Given the description of an element on the screen output the (x, y) to click on. 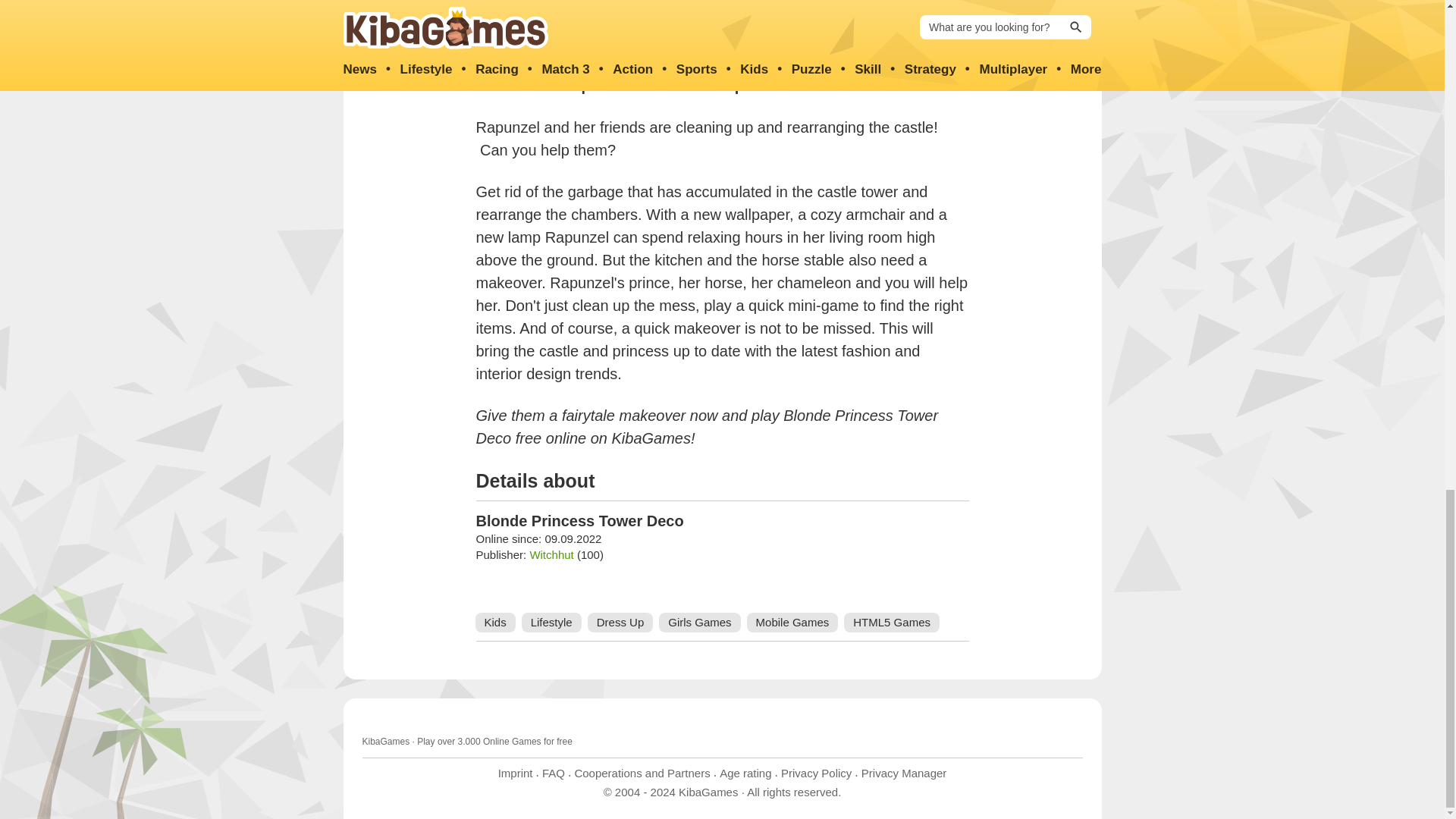
HTML5 Games (891, 622)
Lifestyle (550, 622)
Witchhut (551, 554)
Lifestyle  (550, 622)
Dress Up (620, 622)
Witchhut (551, 554)
Dress Up (620, 622)
Girls Games (699, 622)
Kids (494, 622)
Mobile Games (792, 622)
Kids (494, 622)
Girls Games (699, 622)
